Given the description of an element on the screen output the (x, y) to click on. 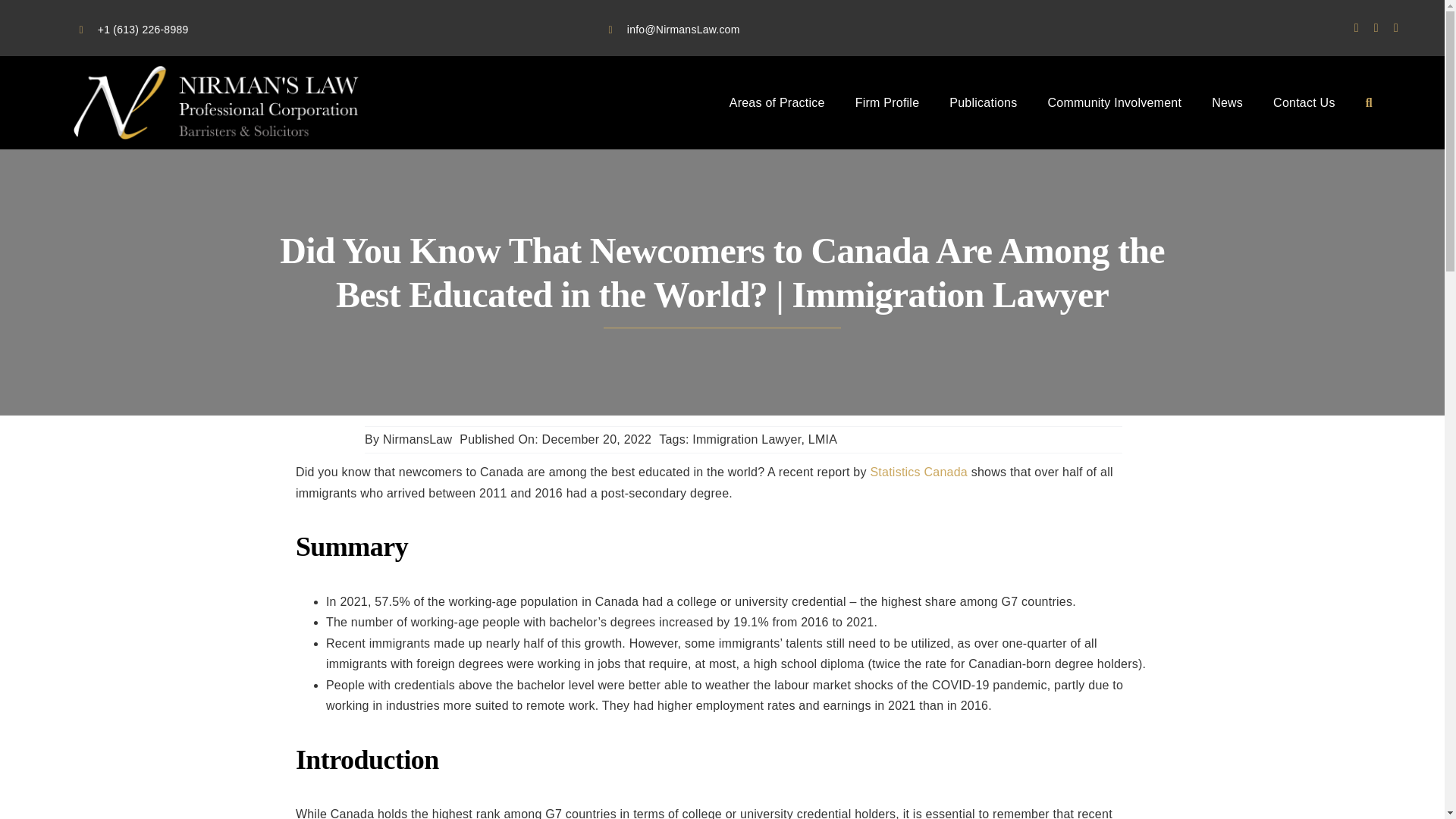
Contact Us (1303, 102)
NirmansLaw (416, 439)
Areas of Practice (777, 102)
LMIA (822, 439)
Community Involvement (1113, 102)
Immigration Lawyer (746, 439)
Posts by NirmansLaw (416, 439)
Firm Profile (888, 102)
Statistics Canada (918, 472)
Publications (982, 102)
